Given the description of an element on the screen output the (x, y) to click on. 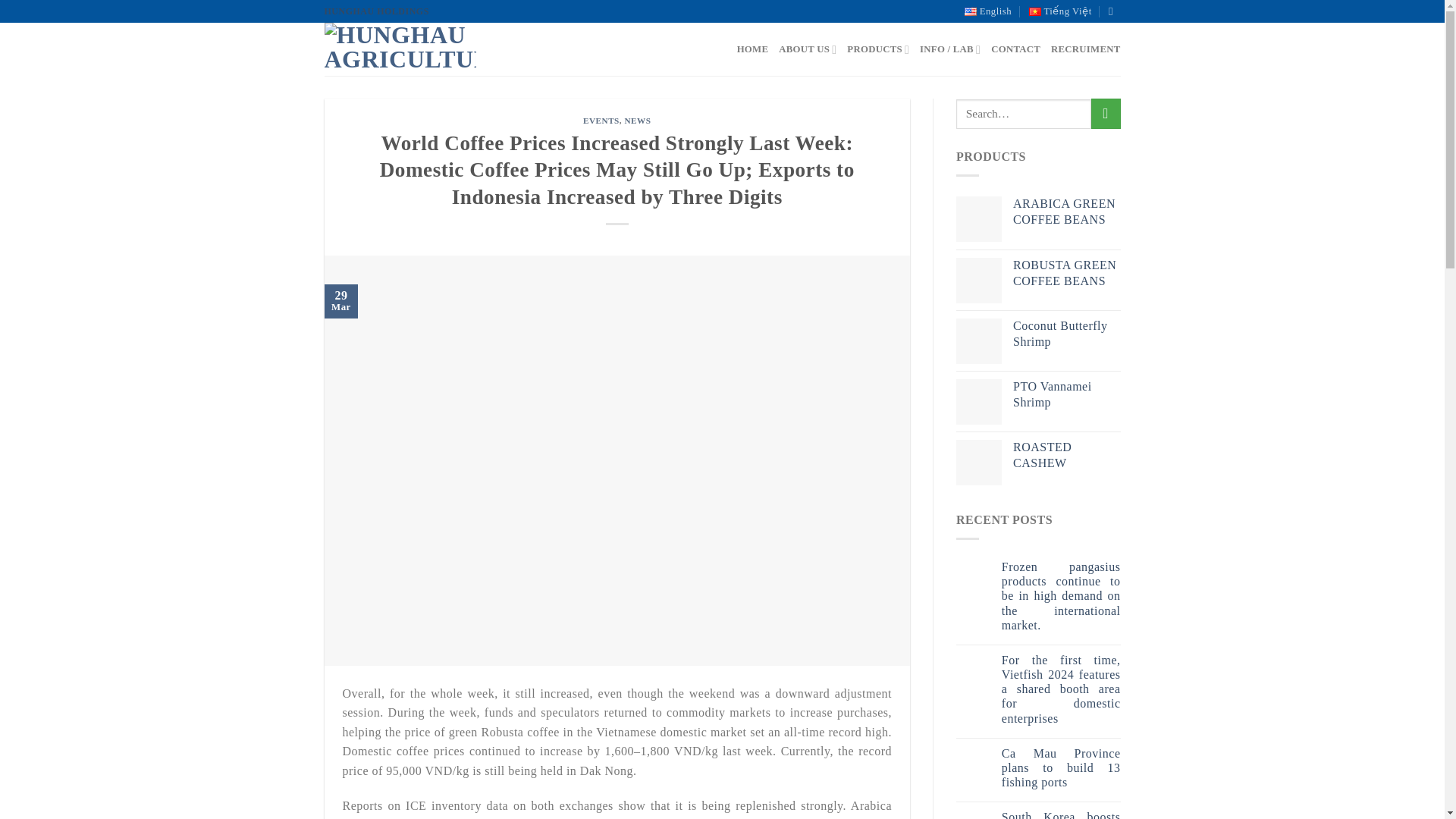
HOME (752, 49)
South Korea boosts cephalopod imports from Vietnam (1061, 814)
PRODUCTS (877, 49)
Ca Mau Province plans to build 13 fishing ports (1061, 768)
RECRUIMENT (1085, 49)
CONTACT (1016, 49)
NEWS (637, 120)
